Given the description of an element on the screen output the (x, y) to click on. 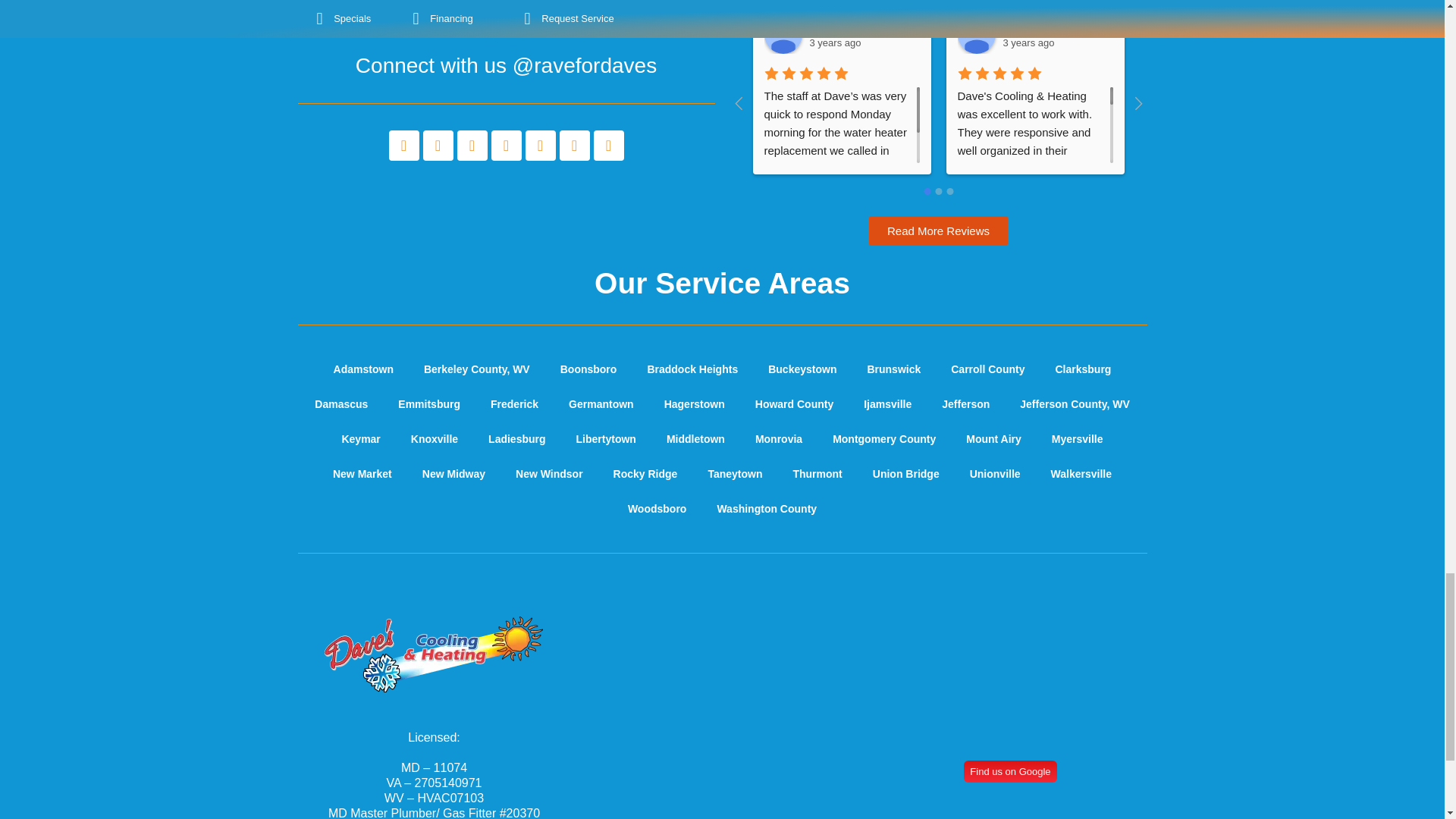
Jessica Otero (975, 34)
Dave's Cooling and Heating Frederick  (1009, 659)
Mary Fox (1362, 34)
charles clark (1170, 34)
Todd Hansen (783, 34)
